Given the description of an element on the screen output the (x, y) to click on. 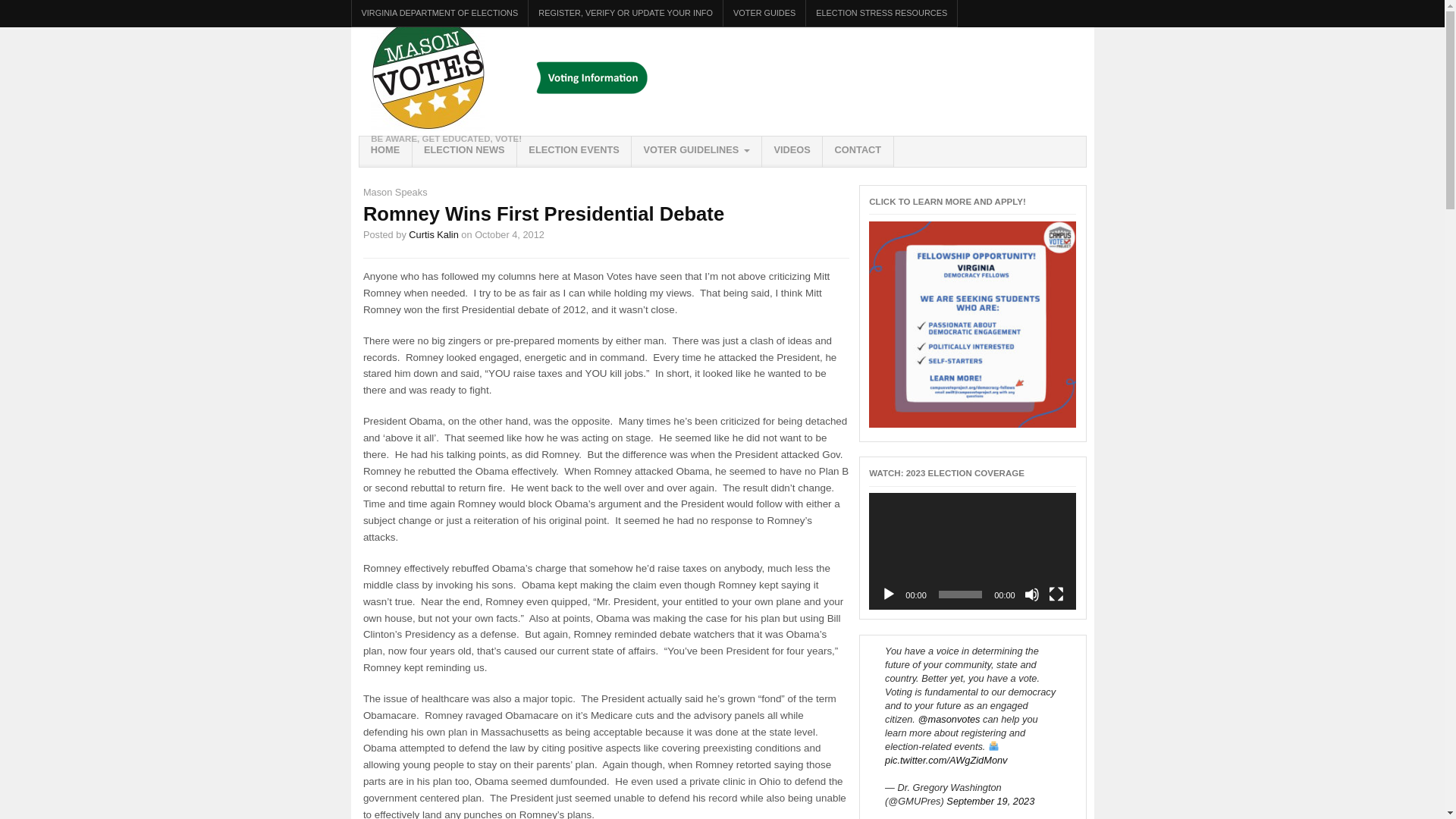
CONTACT (857, 151)
ELECTION EVENTS (573, 151)
ELECTION NEWS (464, 151)
HOME (385, 151)
Mason Speaks (395, 192)
ELECTION STRESS RESOURCES (881, 13)
Romney Wins First Presidential Debate (542, 213)
VIDEOS (791, 151)
VOTER GUIDES (764, 13)
Curtis Kalin (433, 234)
MASON VOTES (427, 74)
September 19, 2023 (989, 800)
REGISTER, VERIFY OR UPDATE YOUR INFO (625, 13)
Play (888, 594)
VIRGINIA DEPARTMENT OF ELECTIONS (440, 13)
